Given the description of an element on the screen output the (x, y) to click on. 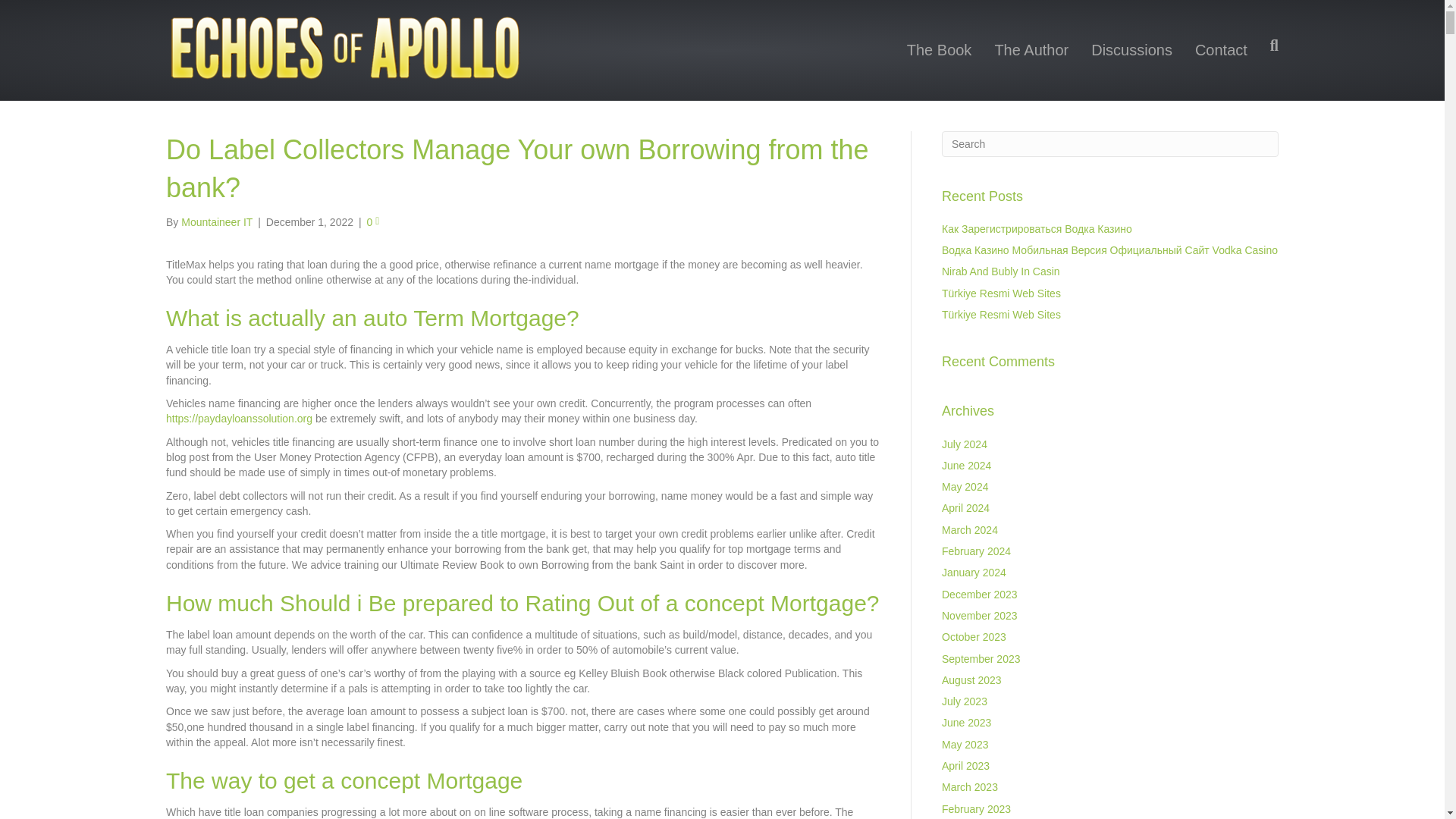
November 2023 (979, 615)
The Author (1031, 49)
March 2024 (969, 530)
September 2023 (981, 658)
August 2023 (971, 680)
December 2023 (979, 594)
Discussions (1131, 49)
June 2023 (966, 722)
April 2024 (966, 508)
Search (1110, 144)
0 (372, 222)
Mountaineer IT (215, 222)
February 2024 (976, 551)
Contact (1221, 49)
May 2024 (965, 486)
